Given the description of an element on the screen output the (x, y) to click on. 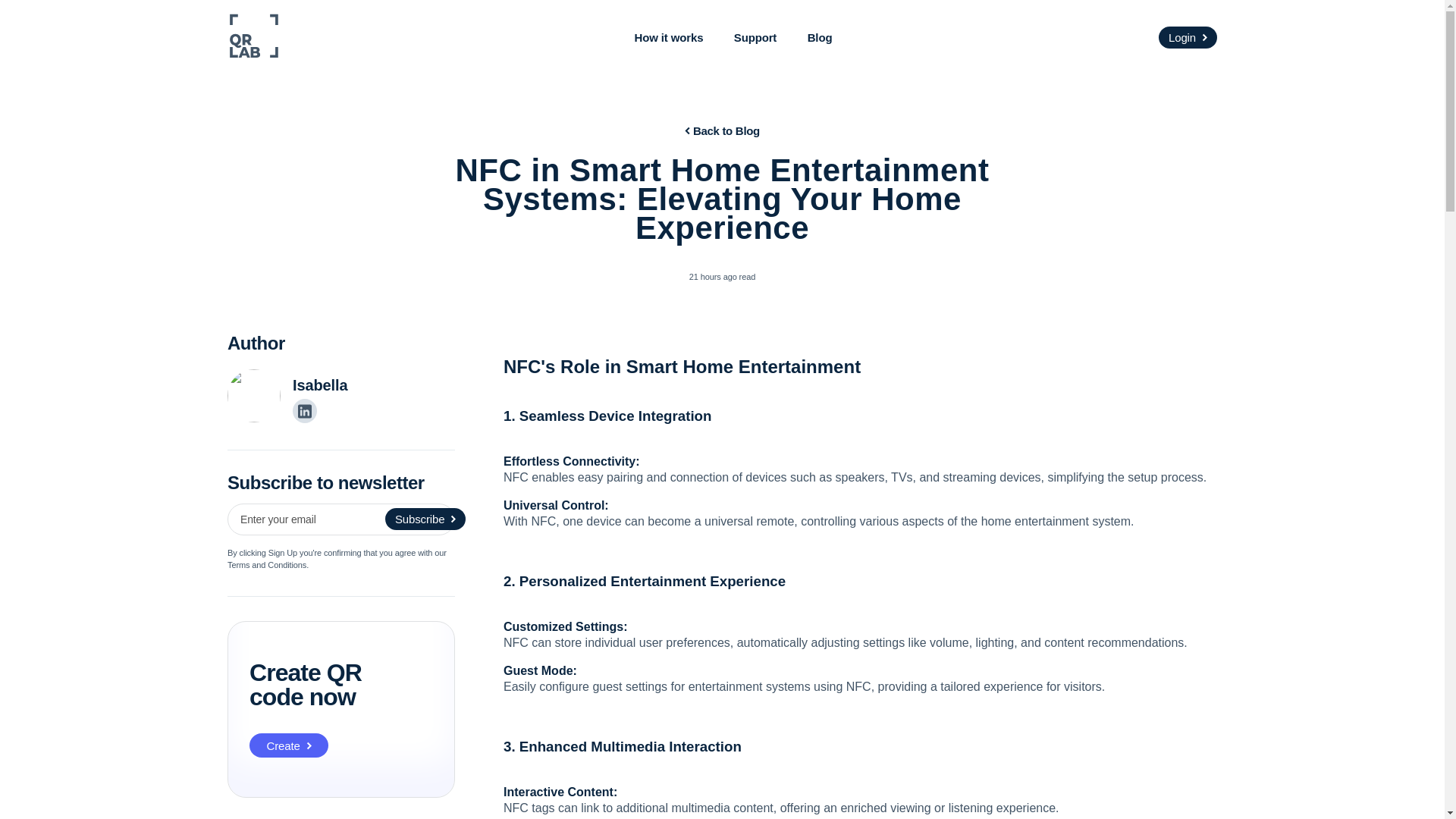
Create (288, 745)
Blog (820, 37)
Support (754, 37)
How it works (668, 37)
Back to Blog (722, 130)
Login (1187, 37)
